Given the description of an element on the screen output the (x, y) to click on. 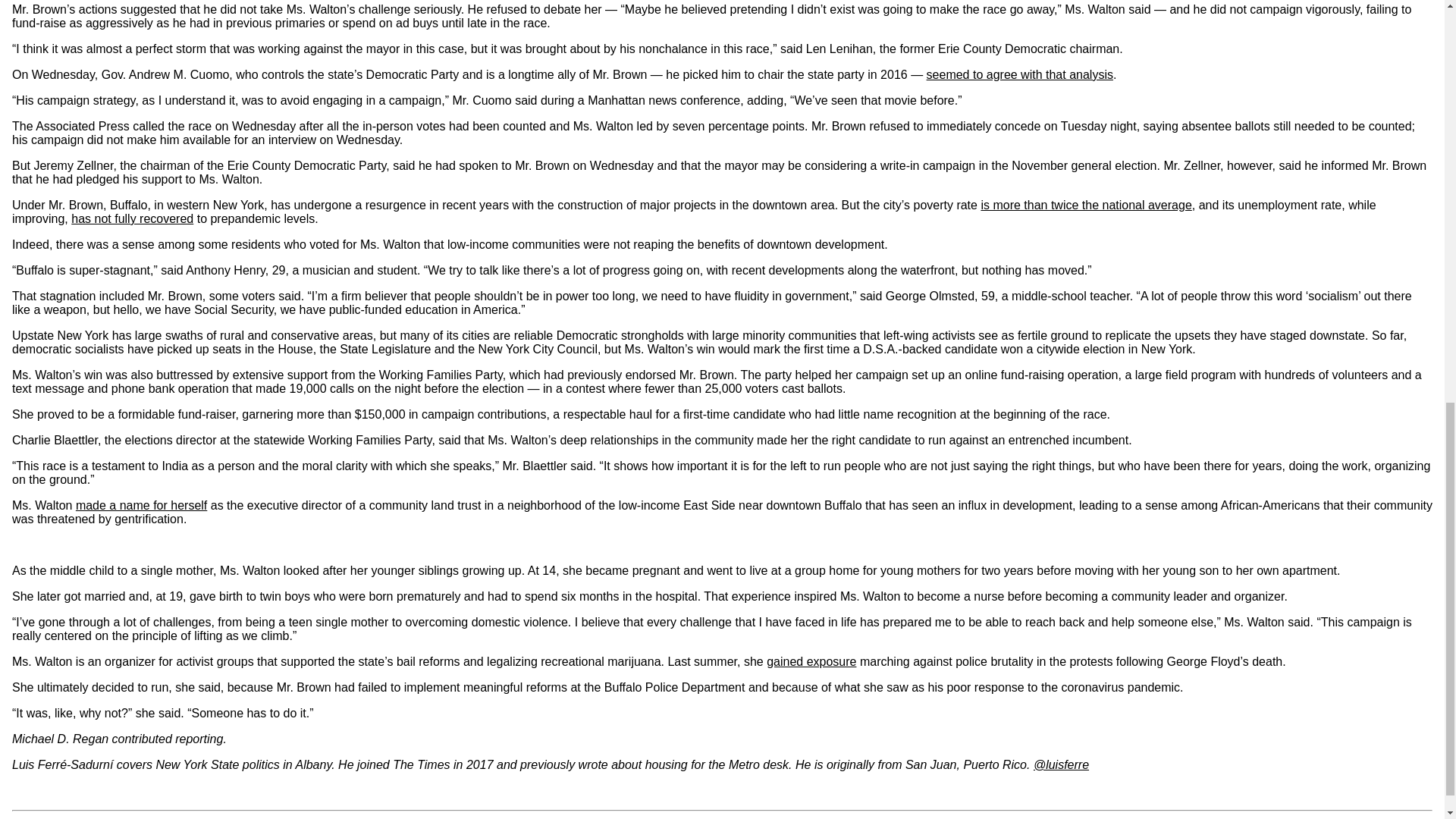
is more than twice the national average (1085, 205)
made a name for herself (140, 504)
seemed to agree with that analysis (1019, 74)
gained exposure (811, 661)
has not fully recovered (132, 218)
